Given the description of an element on the screen output the (x, y) to click on. 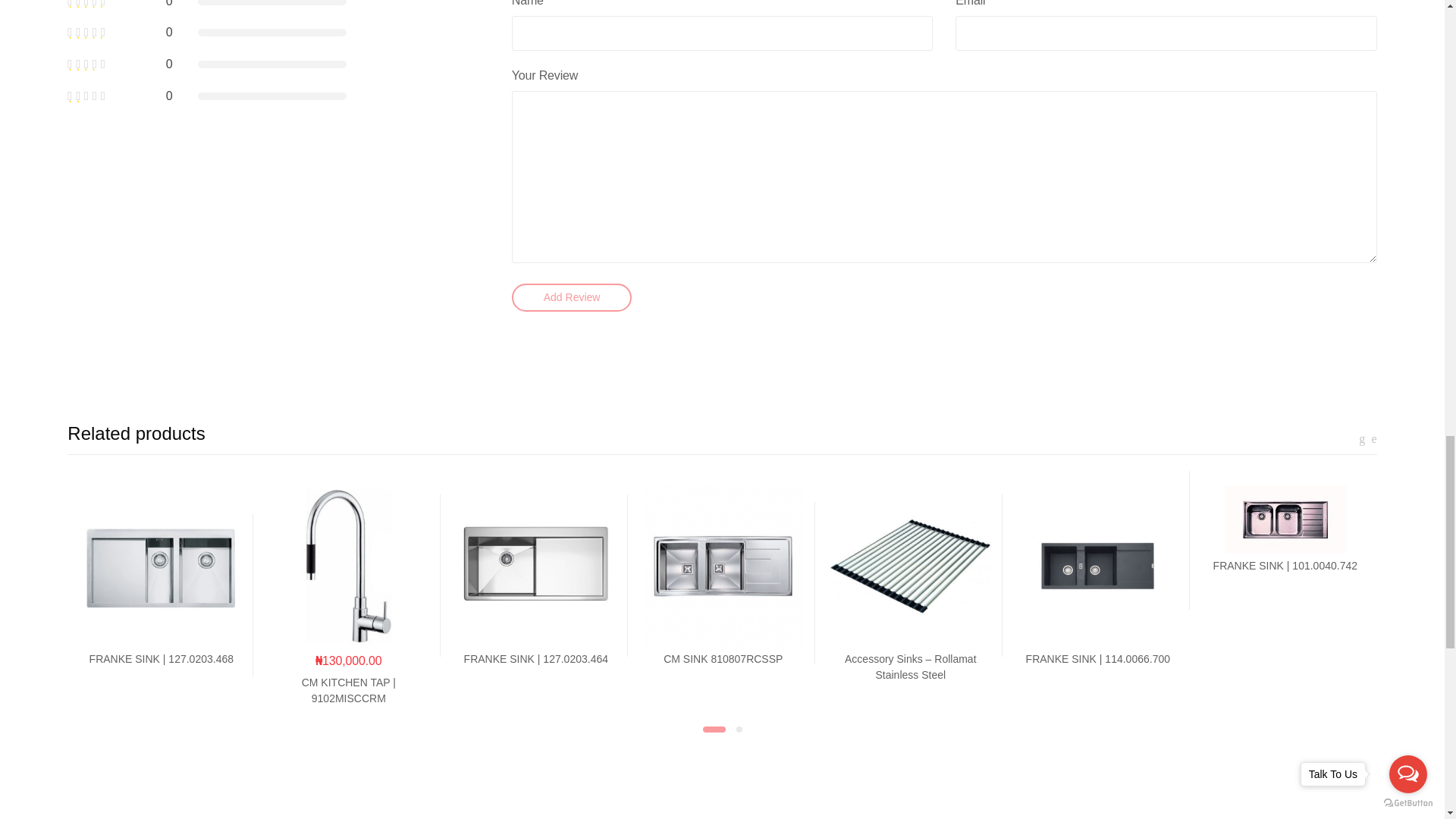
Add Review (571, 297)
